Given the description of an element on the screen output the (x, y) to click on. 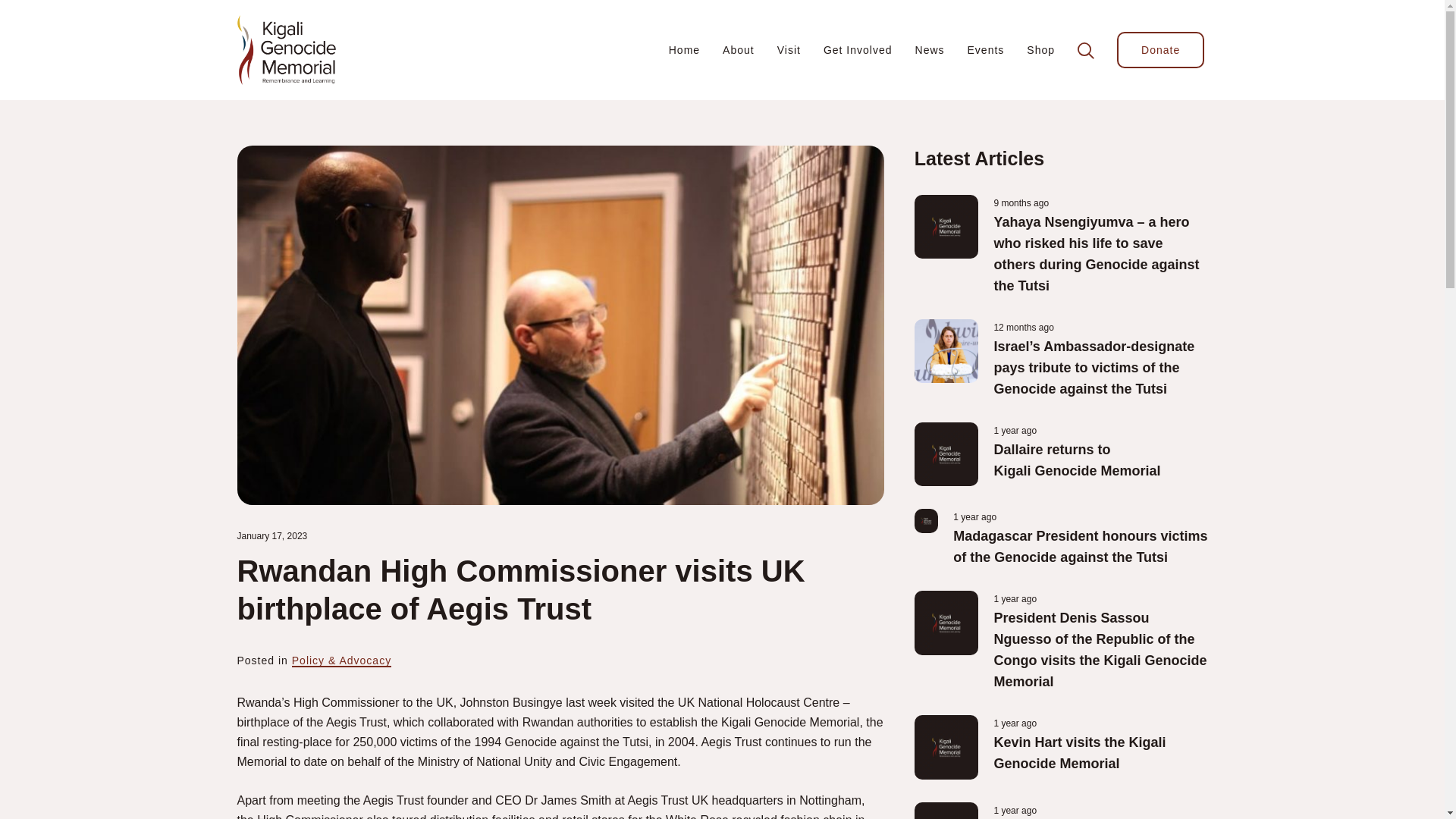
Shop (1040, 49)
News (929, 49)
news-placeholder-image (946, 454)
Events (986, 49)
About (738, 49)
news-placeholder-image (946, 226)
Home (684, 49)
news-placeholder-image (926, 520)
Get Involved (858, 49)
Visit (788, 49)
